Given the description of an element on the screen output the (x, y) to click on. 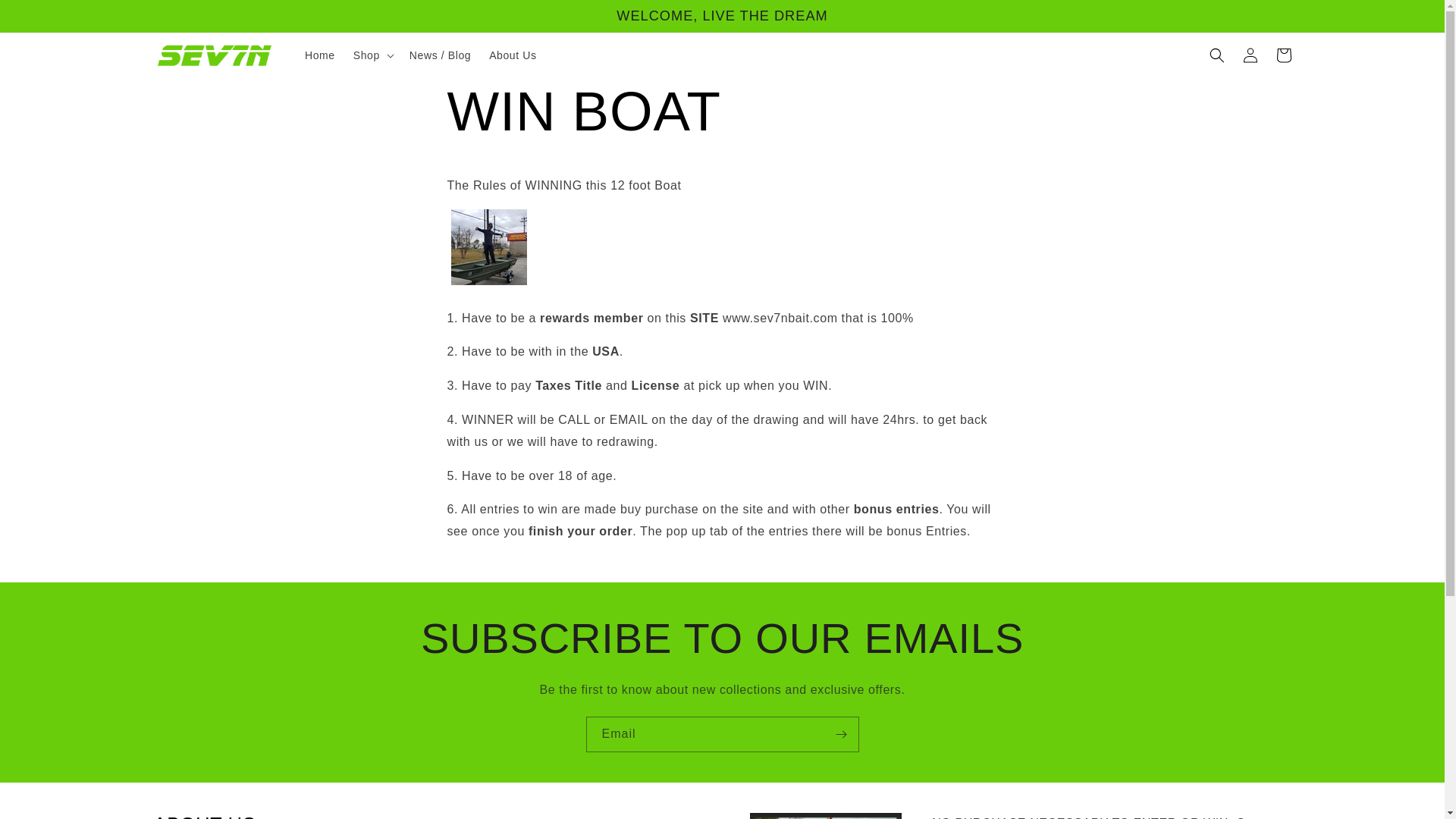
Home (319, 55)
Skip to content (45, 17)
Cart (1283, 55)
Log in (1249, 55)
About Us (512, 55)
